Given the description of an element on the screen output the (x, y) to click on. 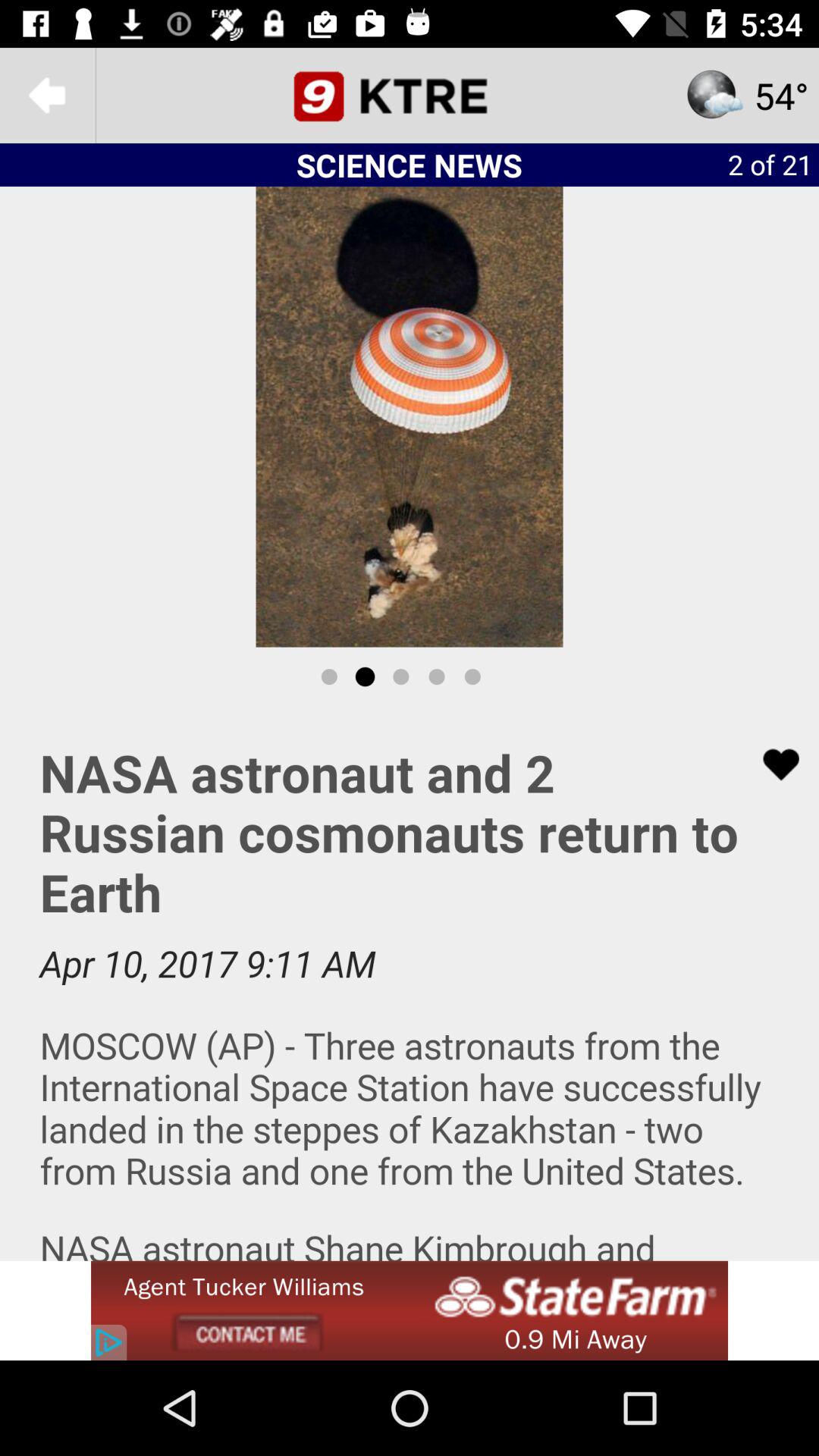
like button (771, 764)
